Given the description of an element on the screen output the (x, y) to click on. 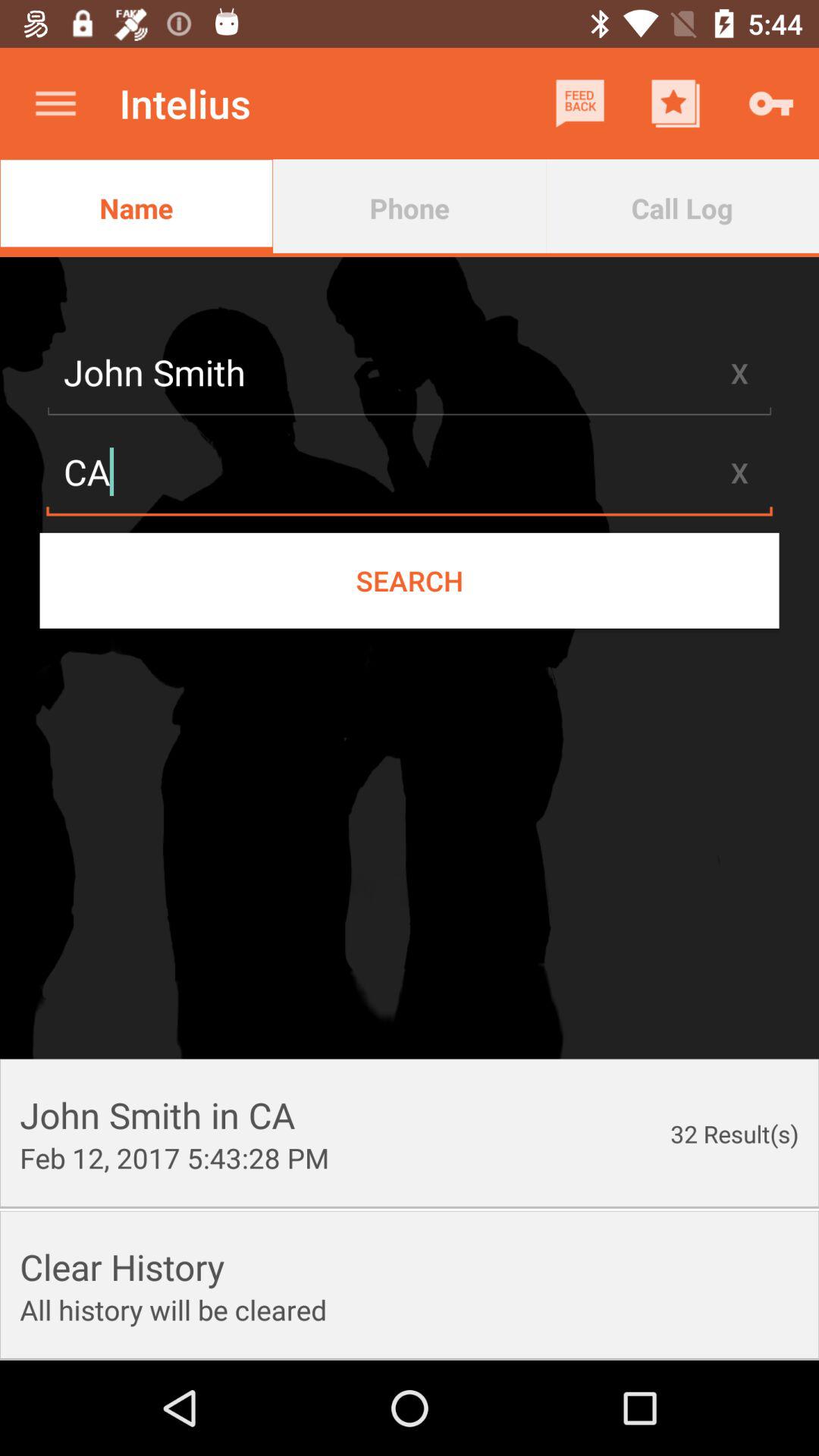
press 32 result(s) item (734, 1133)
